Given the description of an element on the screen output the (x, y) to click on. 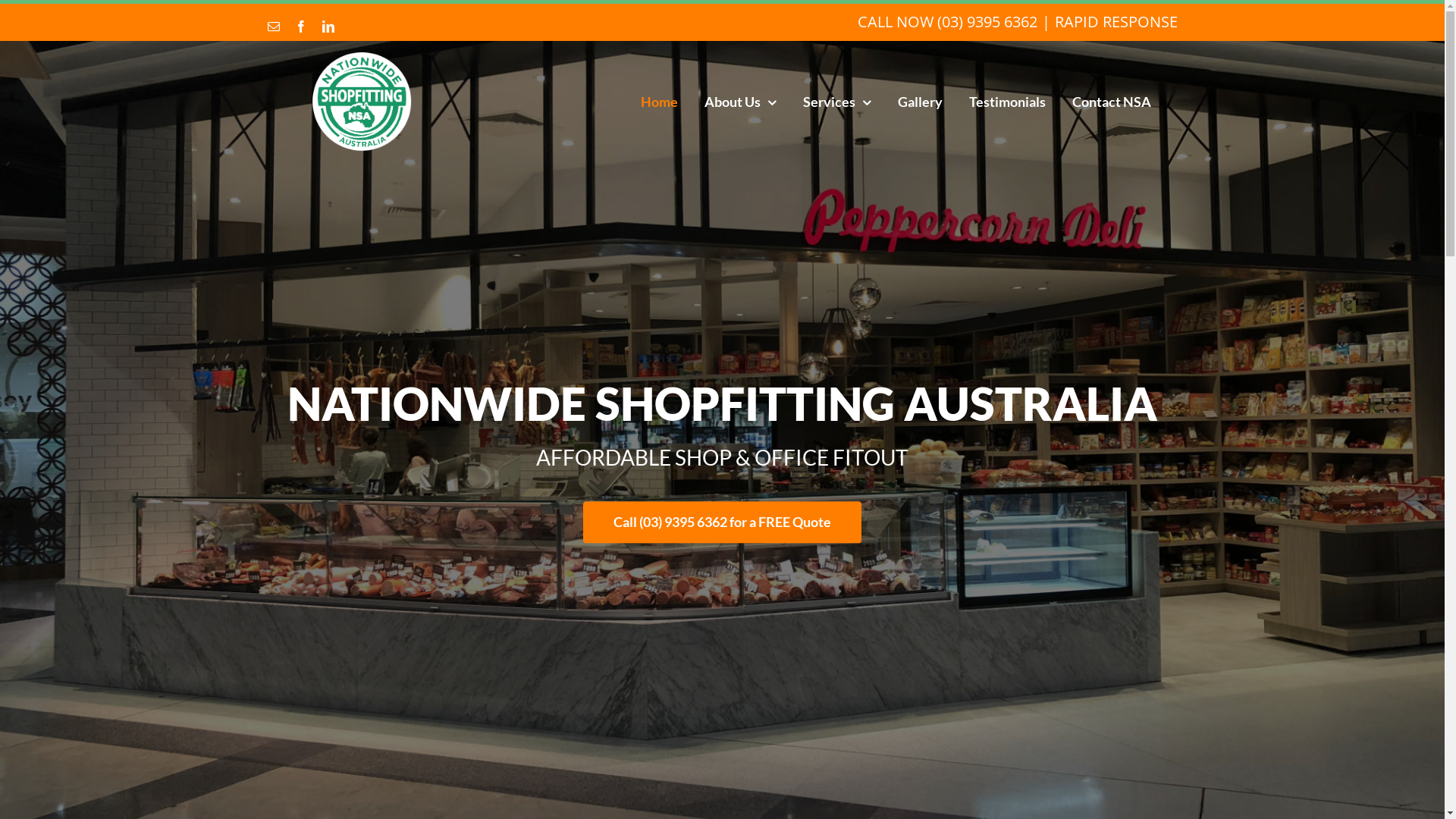
About Us Element type: text (739, 101)
LinkedIn Element type: text (327, 25)
Contact NSA Element type: text (1111, 101)
(03) 9395 6362 Element type: text (987, 21)
Gallery Element type: text (919, 101)
Services Element type: text (836, 101)
RAPID RESPONSE Element type: text (1115, 21)
Testimonials Element type: text (1007, 101)
Facebook Element type: text (300, 25)
Call (03) 9395 6362 for a FREE Quote Element type: text (722, 522)
Email Element type: text (272, 25)
Home Element type: text (658, 101)
